Given the description of an element on the screen output the (x, y) to click on. 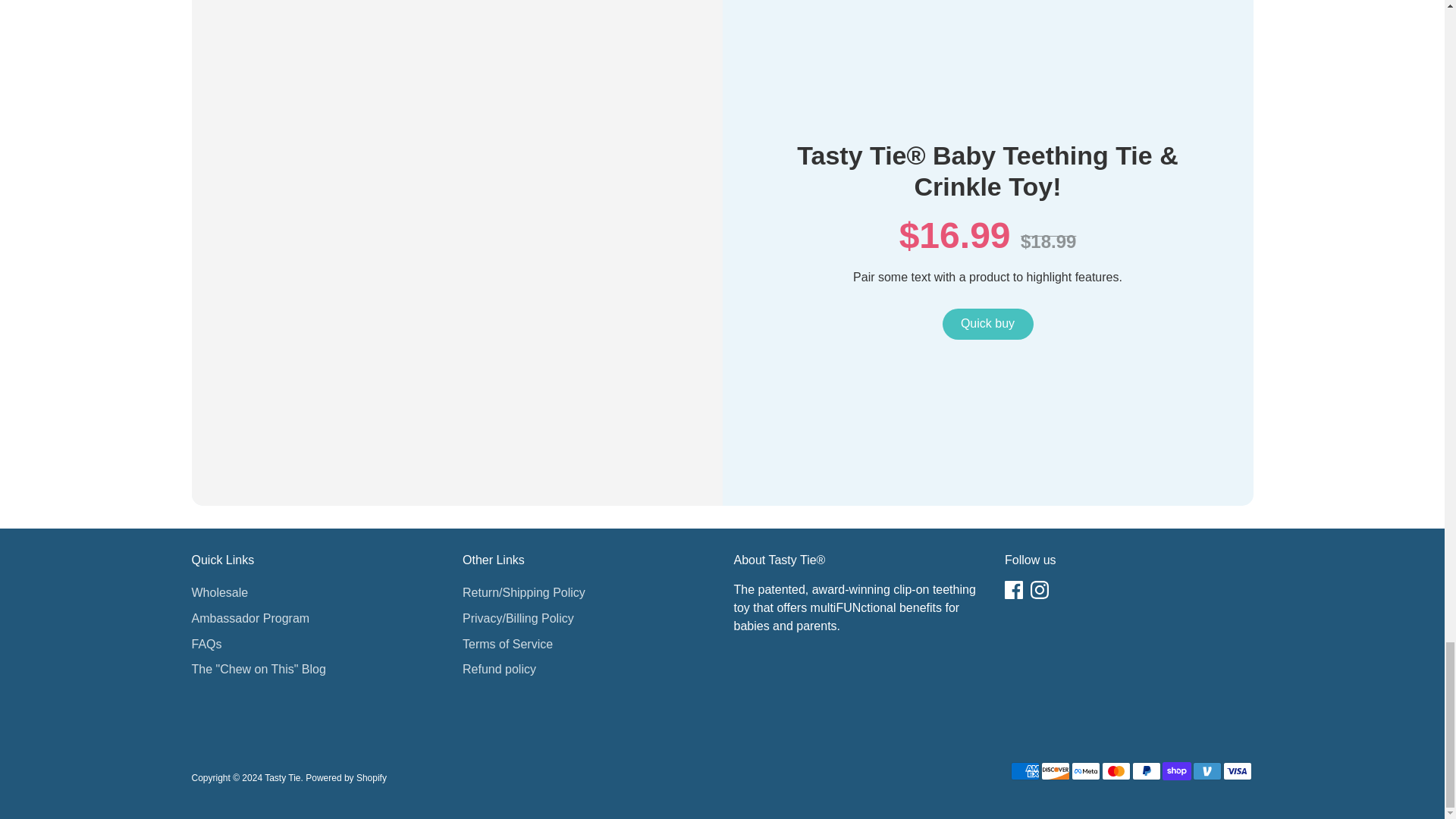
Venmo (1206, 771)
American Express (1024, 771)
Visa (1236, 771)
Mastercard (1114, 771)
PayPal (1145, 771)
Discover (1054, 771)
Shop Pay (1176, 771)
Meta Pay (1084, 771)
